Given the description of an element on the screen output the (x, y) to click on. 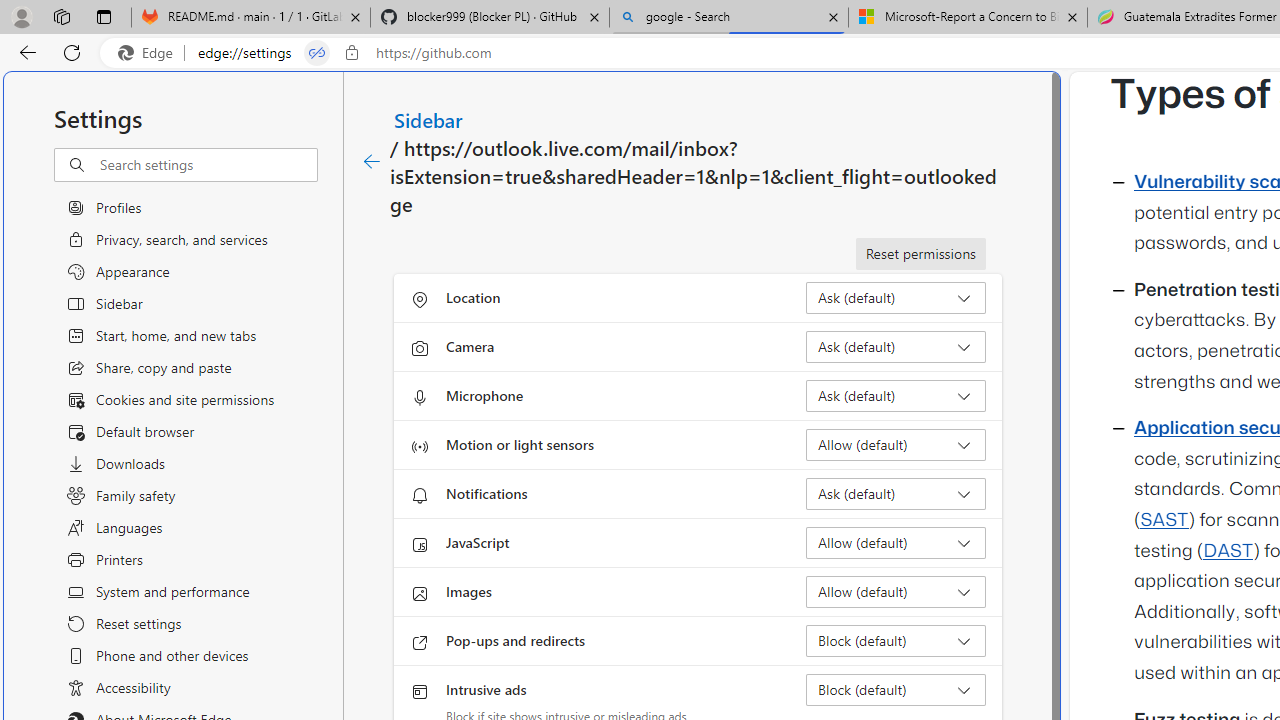
DAST (1228, 551)
Sidebar (429, 119)
Go back to Sidebar page. (372, 162)
Class: c01182 (371, 161)
Search settings (207, 165)
SAST (1164, 520)
Reset permissions (920, 254)
